Given the description of an element on the screen output the (x, y) to click on. 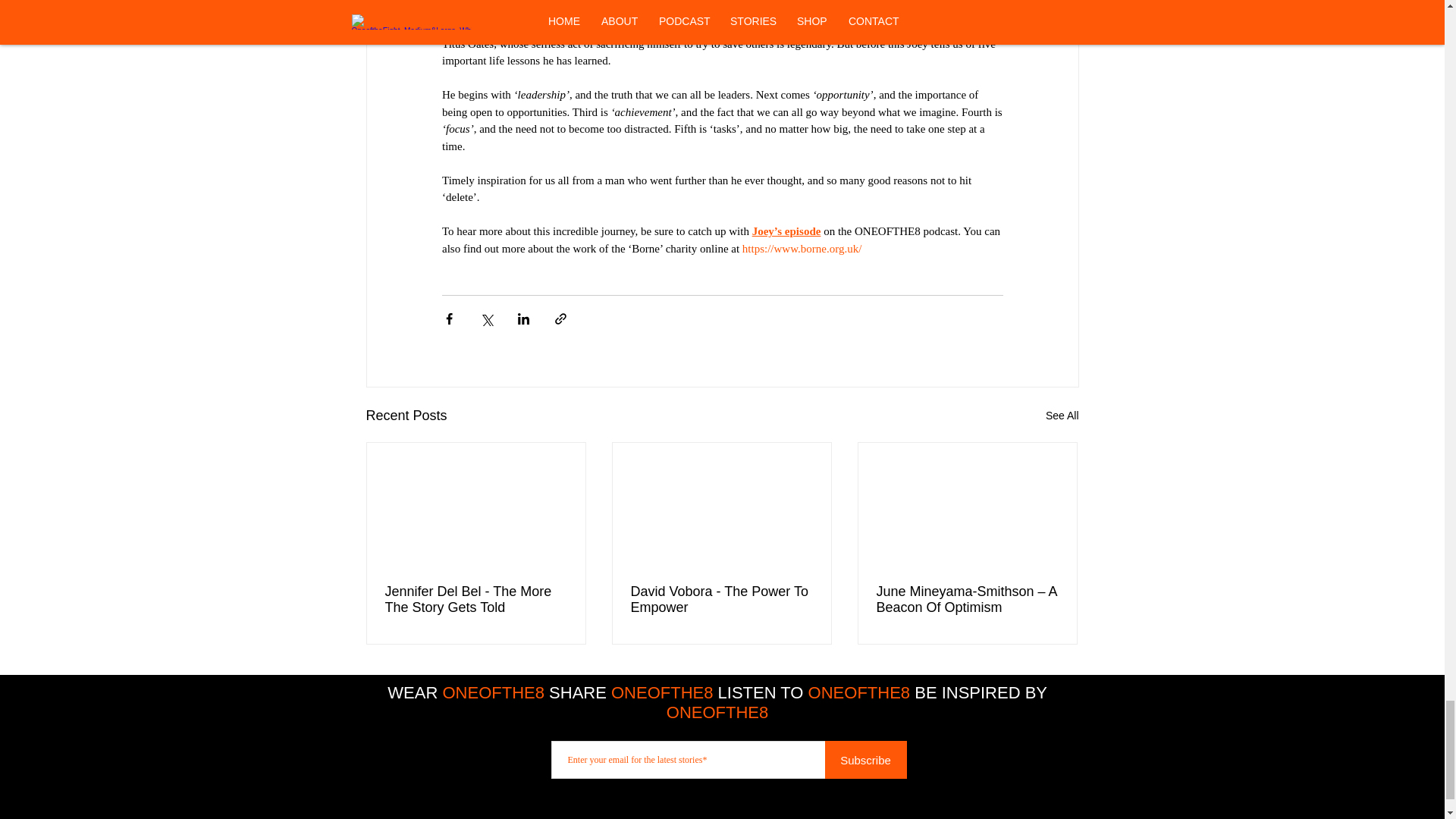
See All (1061, 415)
Jennifer Del Bel - The More The Story Gets Told (476, 599)
Subscribe (866, 759)
David Vobora - The Power To Empower (721, 599)
